Given the description of an element on the screen output the (x, y) to click on. 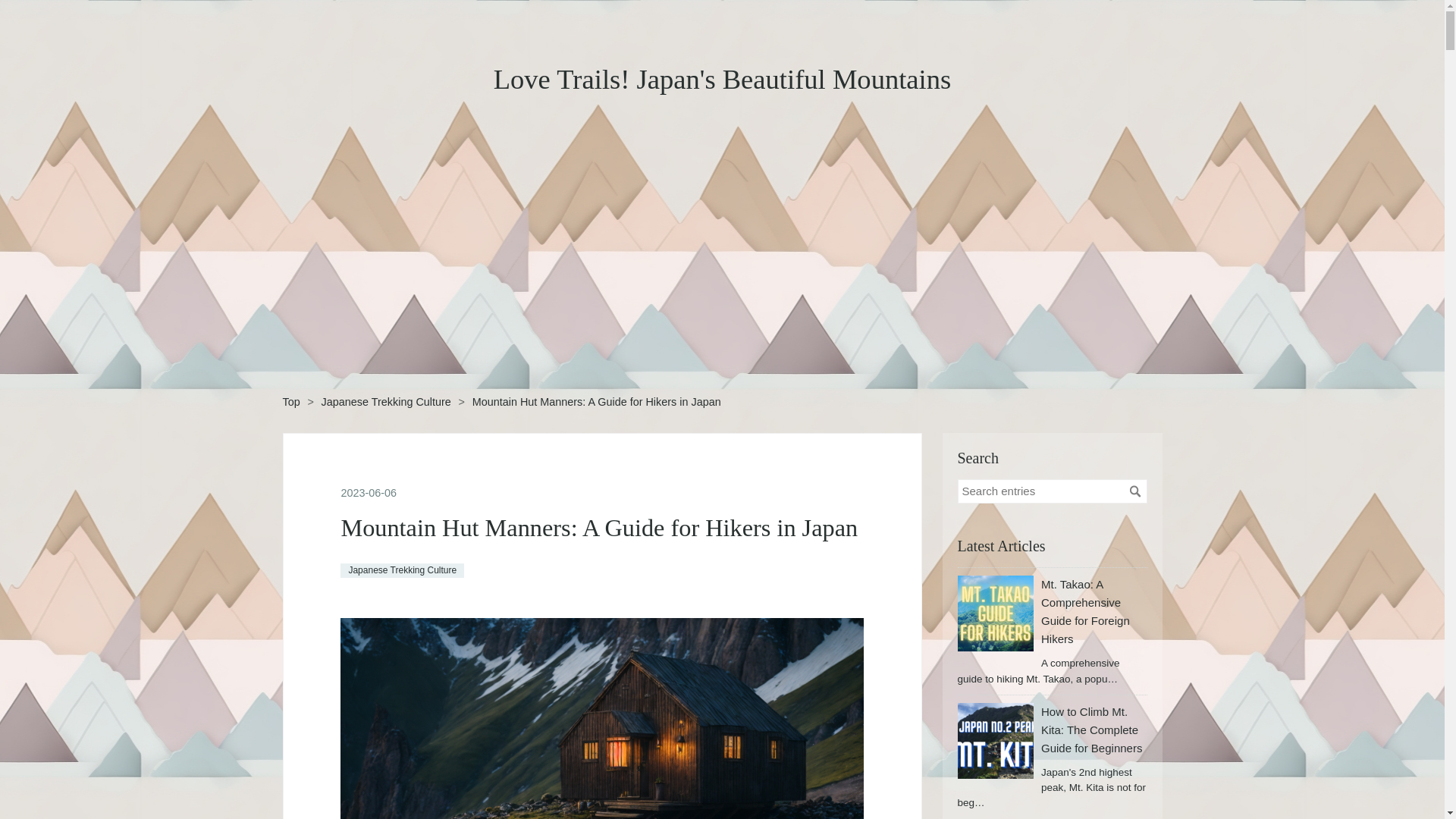
Top (290, 401)
Love Trails! Japan's Beautiful Mountains (721, 79)
Mountain Hut Manners: A Guide for Hikers in Japan (598, 527)
2023-06-06 (368, 492)
Japanese Trekking Culture (386, 401)
Search (1133, 491)
2023-06-06T11:12:24Z (368, 492)
Japanese Trekking Culture (402, 570)
Search (1133, 491)
